Given the description of an element on the screen output the (x, y) to click on. 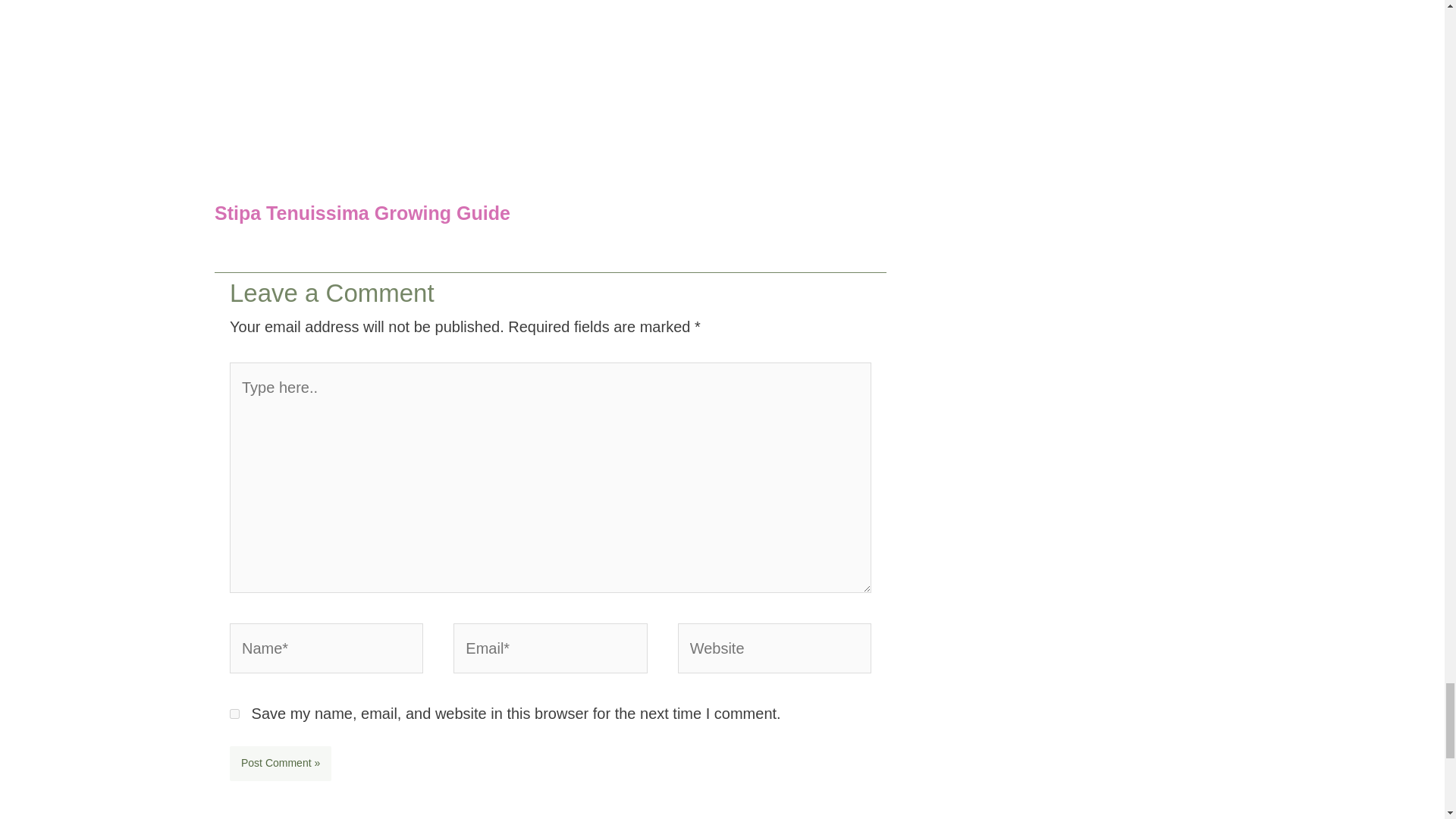
yes (235, 714)
